Given the description of an element on the screen output the (x, y) to click on. 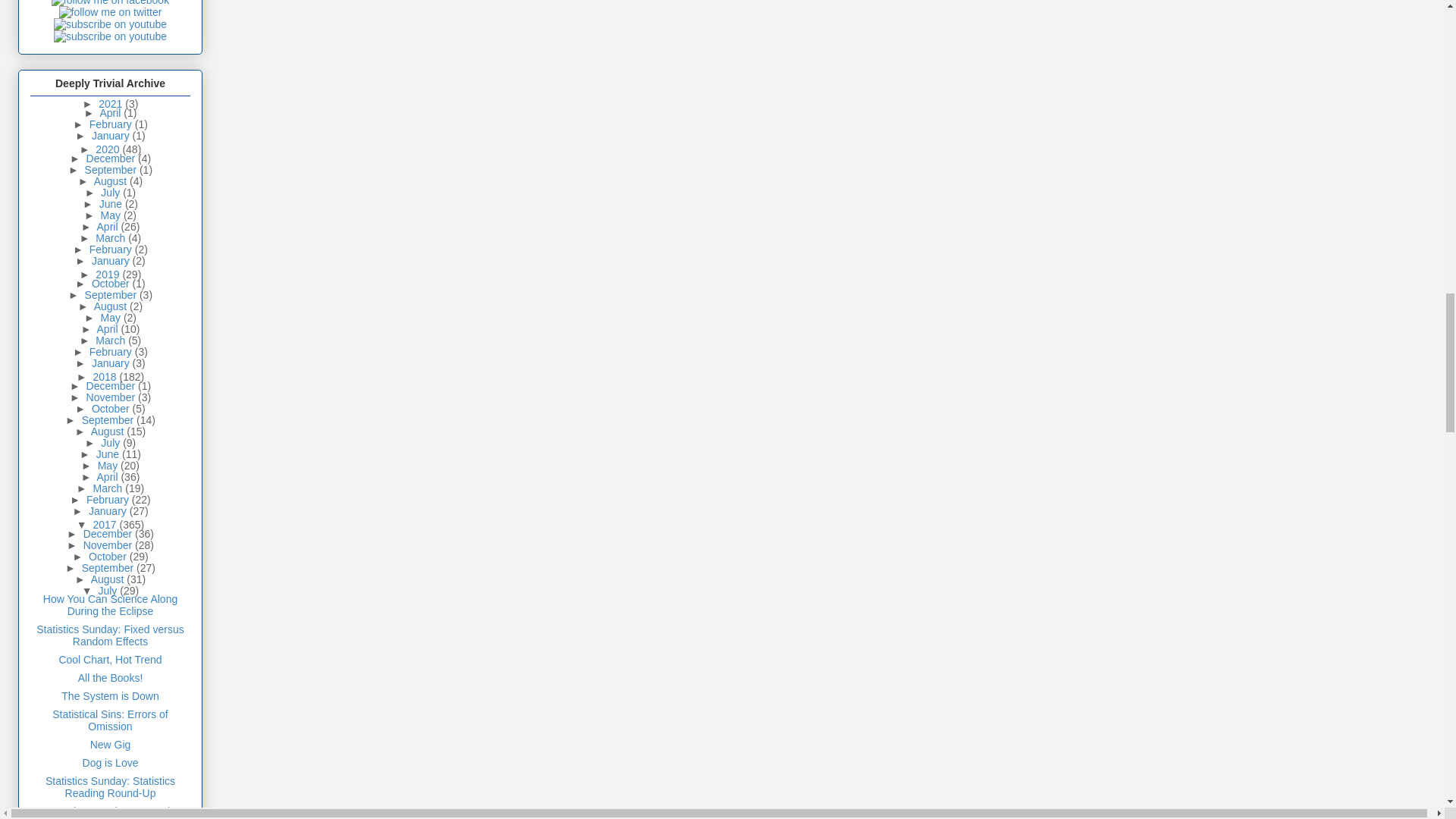
January (111, 135)
April (111, 112)
Subscribe to My Music Channel on YouTube (110, 36)
Subscribe to My Stats Channel on YouTube (110, 24)
find us on Facebook (109, 2)
2021 (112, 103)
follow me on twitter (110, 11)
February (111, 123)
